Given the description of an element on the screen output the (x, y) to click on. 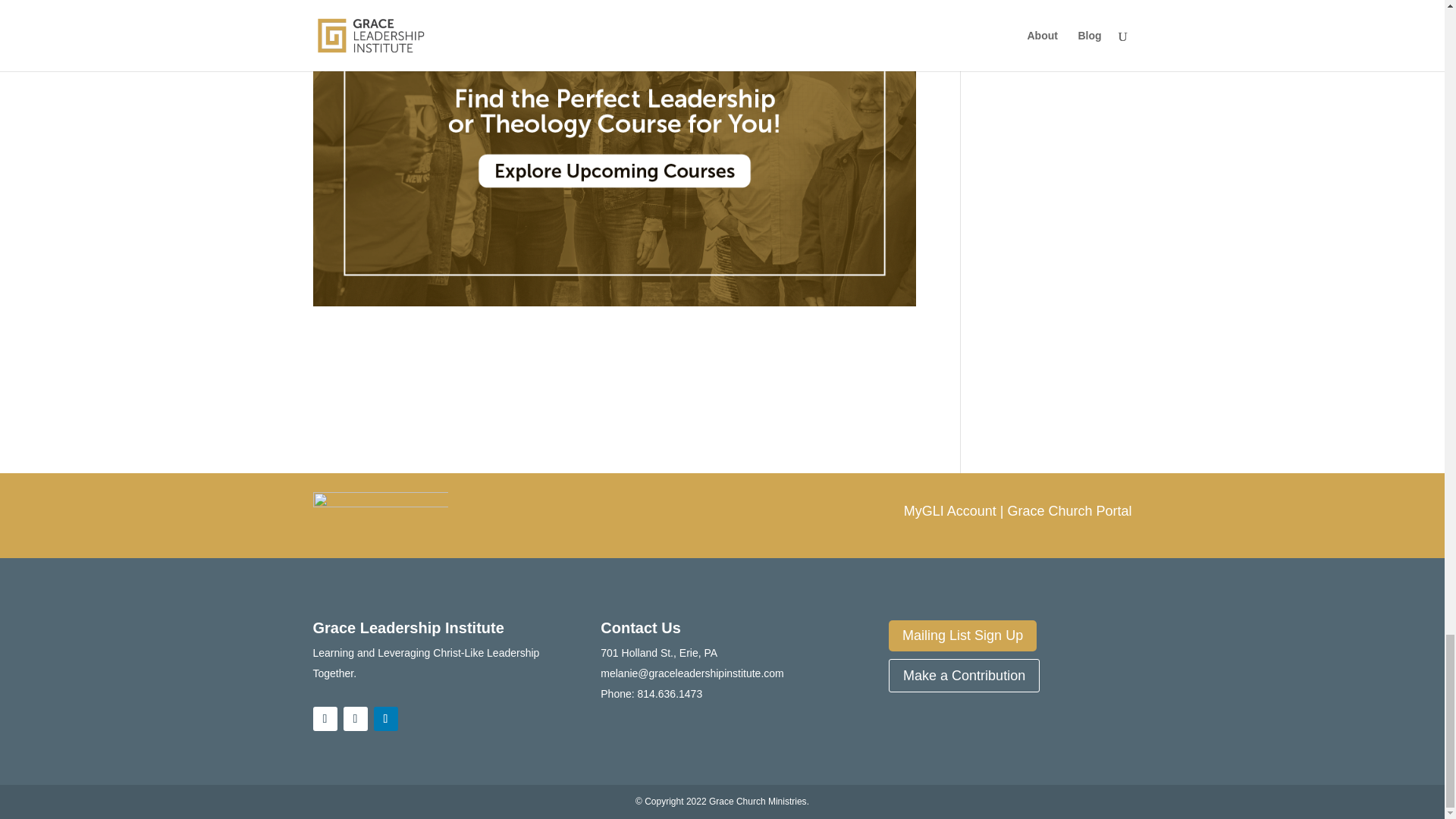
Grace Church Ministries (757, 801)
Follow on Instagram (354, 718)
MyGLI Account (949, 510)
Grace Church Portal (1069, 510)
Make a Contribution (963, 675)
my-gli (380, 512)
Follow on Facebook (324, 718)
Follow on LinkedIn (384, 718)
814.636.1473 (670, 693)
Mailing List Sign Up (962, 635)
